Given the description of an element on the screen output the (x, y) to click on. 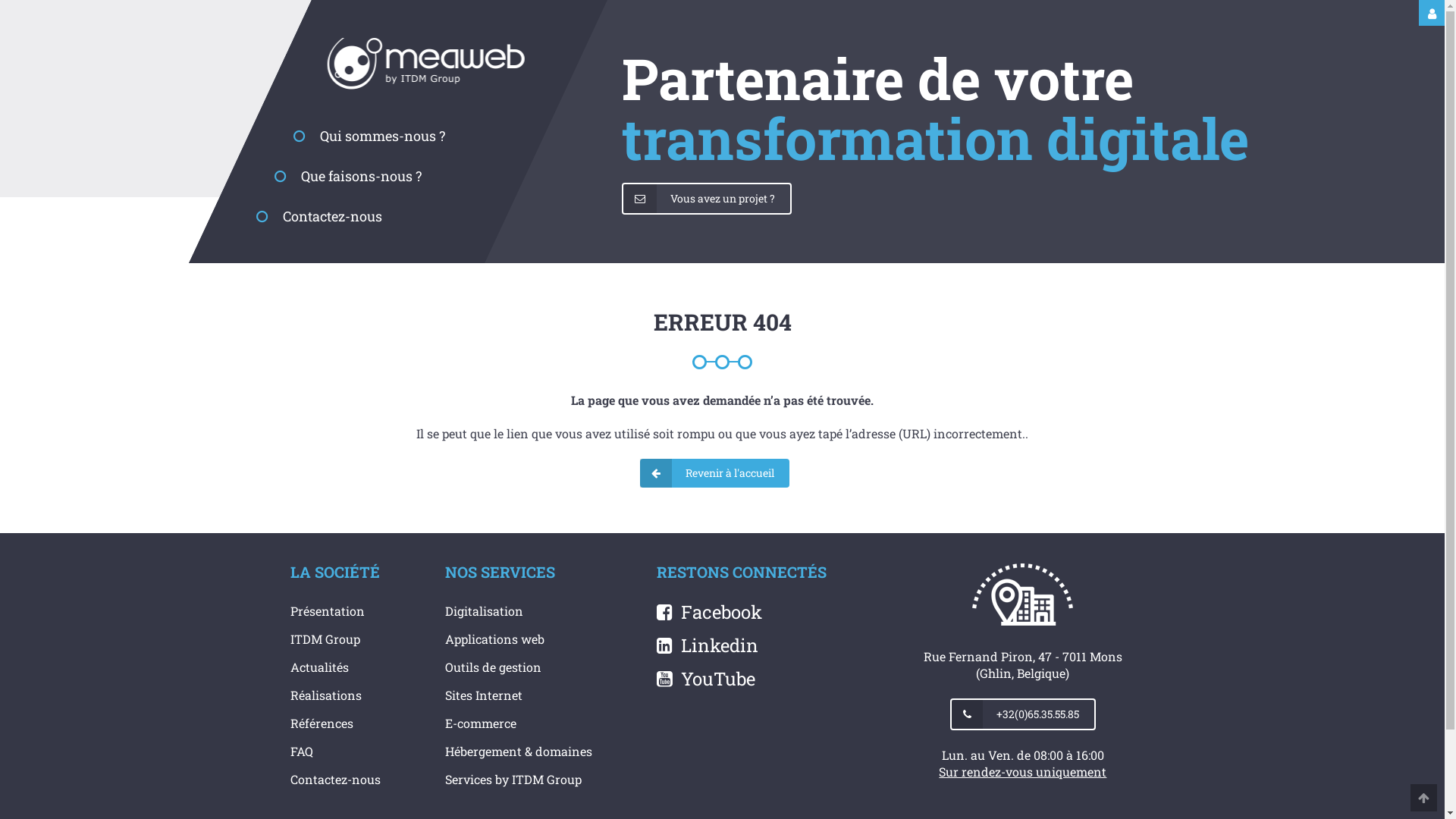
Linkedin Element type: text (707, 645)
Qui sommes-nous ? Element type: text (369, 135)
ITDM Group Element type: text (324, 638)
E-commerce Element type: text (480, 723)
Facebook Element type: text (709, 611)
Que faisons-nous ? Element type: text (347, 175)
Services by ITDM Group Element type: text (513, 779)
Contactez-nous Element type: text (319, 216)
FAQ Element type: text (300, 751)
Contactez-nous Element type: text (334, 779)
Applications web Element type: text (494, 638)
+32(0)65.35.55.85 Element type: text (1022, 714)
Vous avez un projet ? Element type: text (706, 198)
Outils de gestion Element type: text (493, 666)
Digitalisation Element type: text (484, 610)
YouTube Element type: text (705, 678)
Sites Internet Element type: text (483, 694)
